Given the description of an element on the screen output the (x, y) to click on. 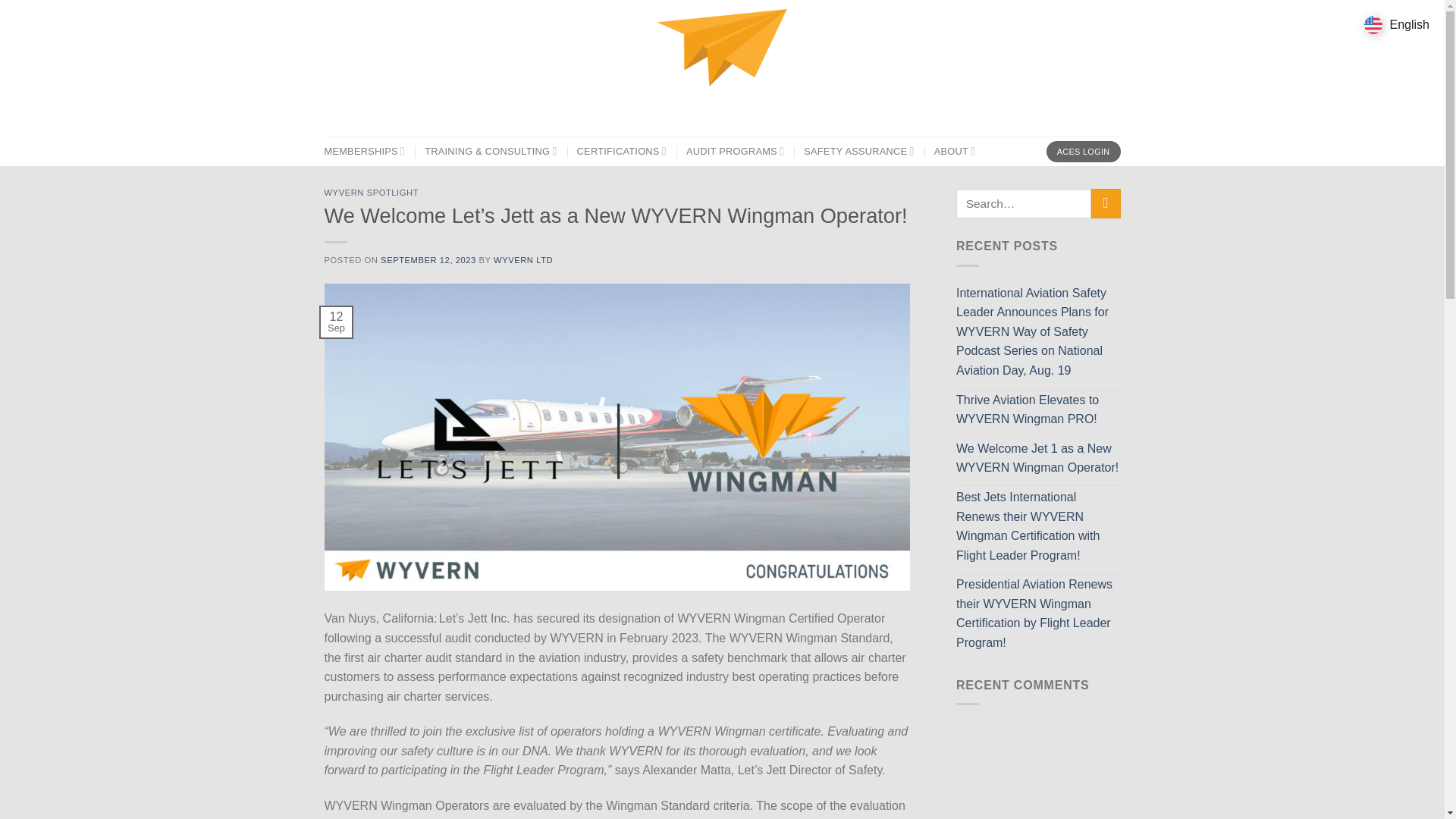
SAFETY ASSURANCE (858, 151)
CERTIFICATIONS (621, 151)
ABOUT (954, 151)
MEMBERSHIPS (365, 151)
WYVERN - A Global Leader in Safety (721, 68)
AUDIT PROGRAMS (734, 151)
